Given the description of an element on the screen output the (x, y) to click on. 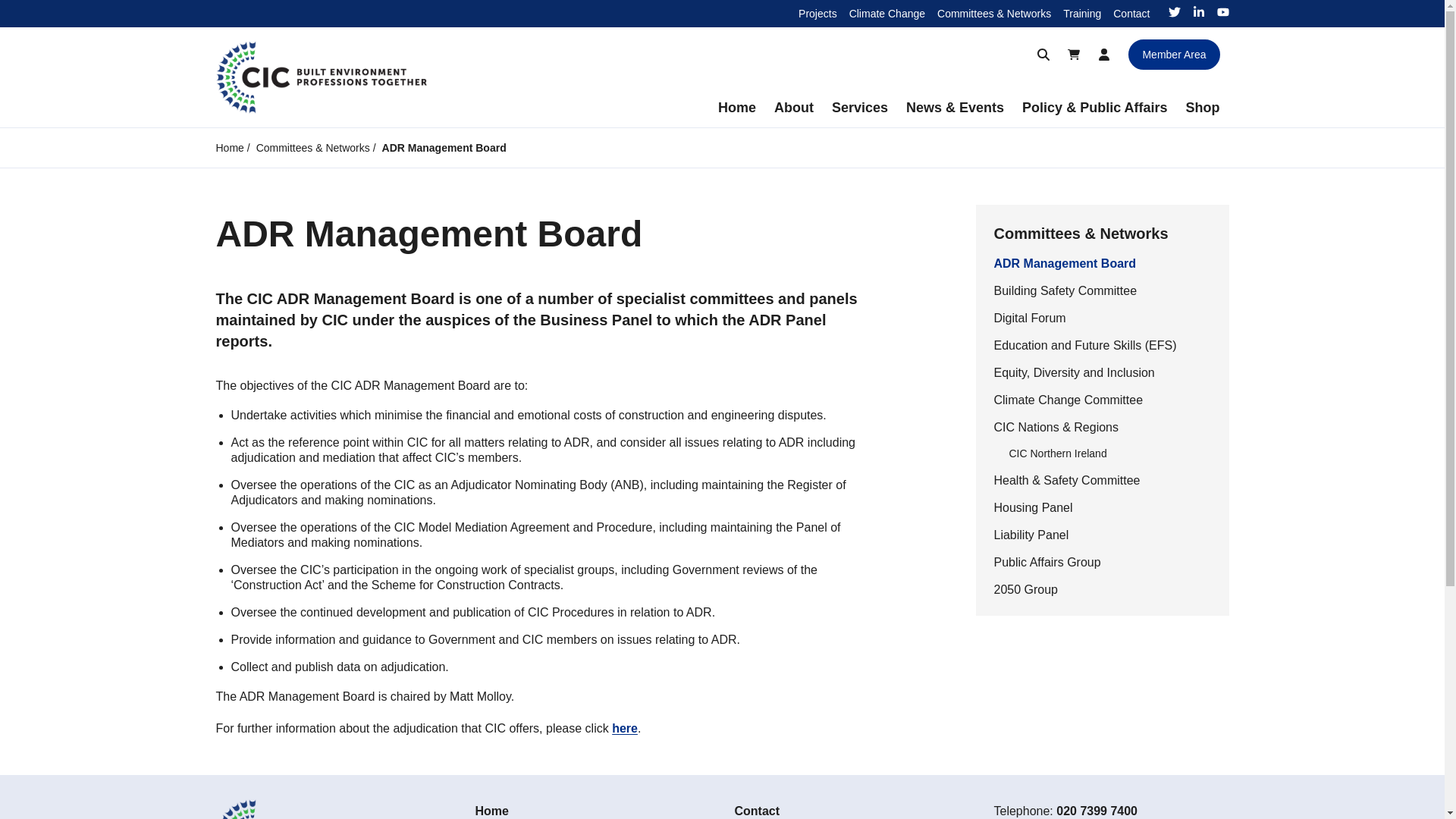
Services (859, 107)
About (793, 107)
Projects (817, 13)
Contact (1131, 13)
Training (1081, 13)
Member Area (1174, 54)
Climate Change (886, 13)
Search (1042, 54)
Cart (1073, 54)
My Account (1103, 54)
Home (737, 107)
